Given the description of an element on the screen output the (x, y) to click on. 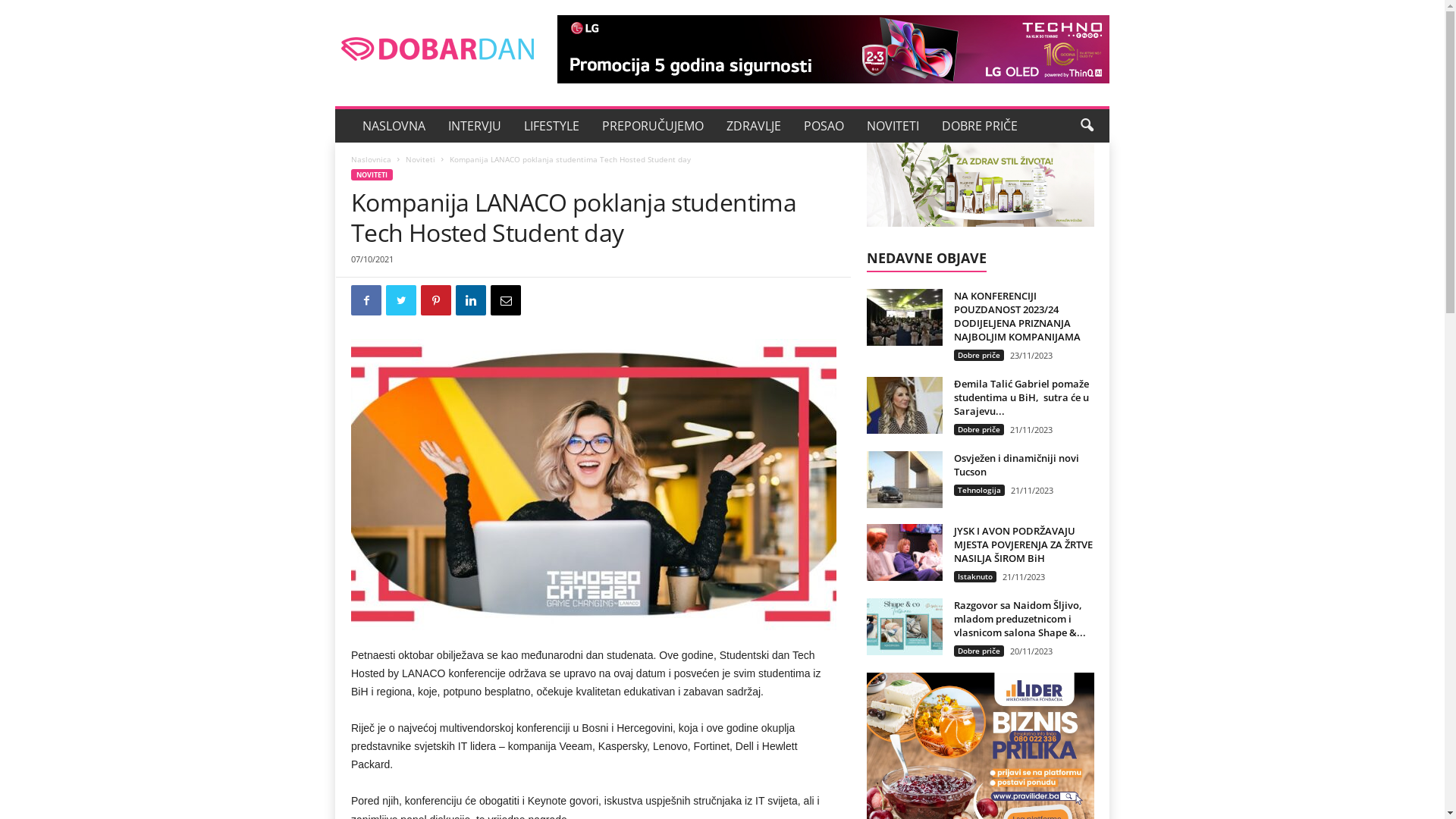
NOVITETI Element type: text (892, 125)
Tehnologija Element type: text (978, 489)
LIFESTYLE Element type: text (551, 125)
INTERVJU Element type: text (474, 125)
Noviteti Element type: text (420, 158)
POSAO Element type: text (823, 125)
Dobar dan Element type: text (438, 49)
NASLOVNA Element type: text (393, 125)
Dobar danportal Element type: hover (438, 49)
NOVITETI Element type: text (371, 174)
ZDRAVLJE Element type: text (753, 125)
Istaknuto Element type: text (974, 576)
LANACO - Student Day Element type: hover (593, 484)
Naslovnica Element type: text (371, 158)
